Given the description of an element on the screen output the (x, y) to click on. 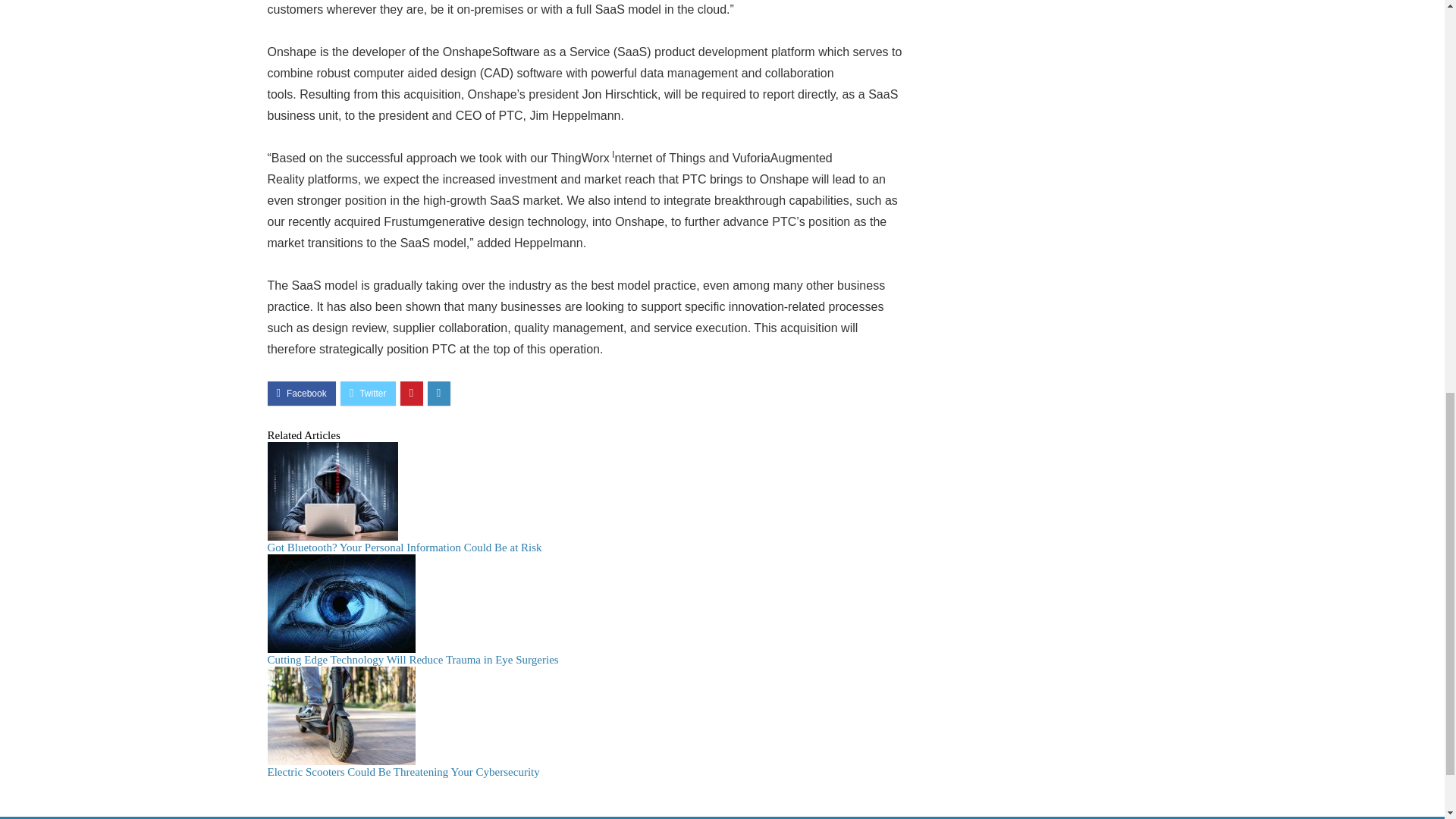
Cutting Edge Technology Will Reduce Trauma in Eye Surgeries (411, 659)
Got Bluetooth? Your Personal Information Could Be at Risk (403, 547)
Cutting Edge Technology Will Reduce Trauma in Eye Surgeries (411, 659)
Electric Scooters Could Be Threatening Your Cybersecurity (402, 771)
Electric Scooters Could Be Threatening Your Cybersecurity (402, 771)
Got Bluetooth? Your Personal Information Could Be at Risk (403, 547)
